Given the description of an element on the screen output the (x, y) to click on. 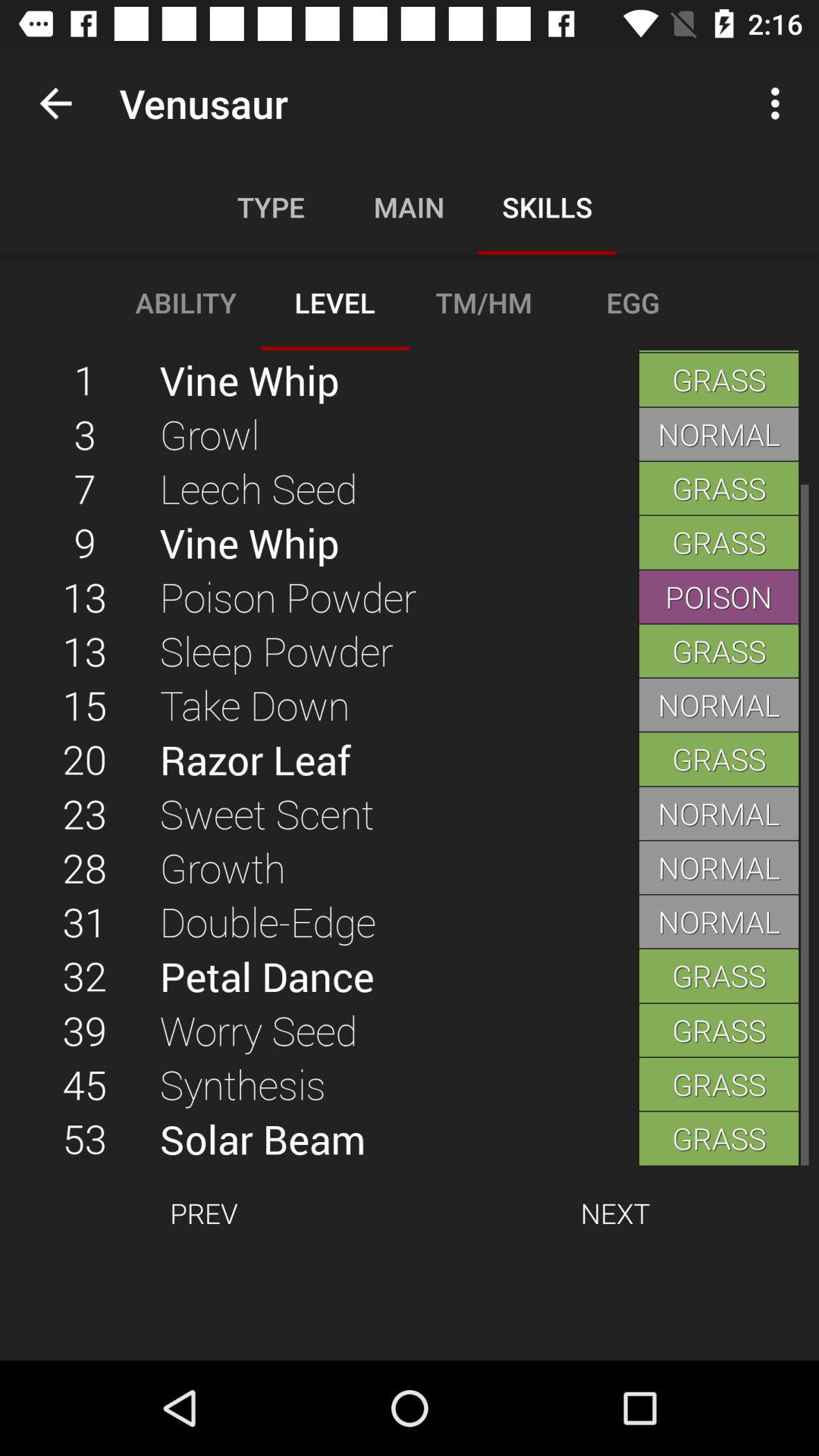
click the item next to the 45 icon (399, 1138)
